Given the description of an element on the screen output the (x, y) to click on. 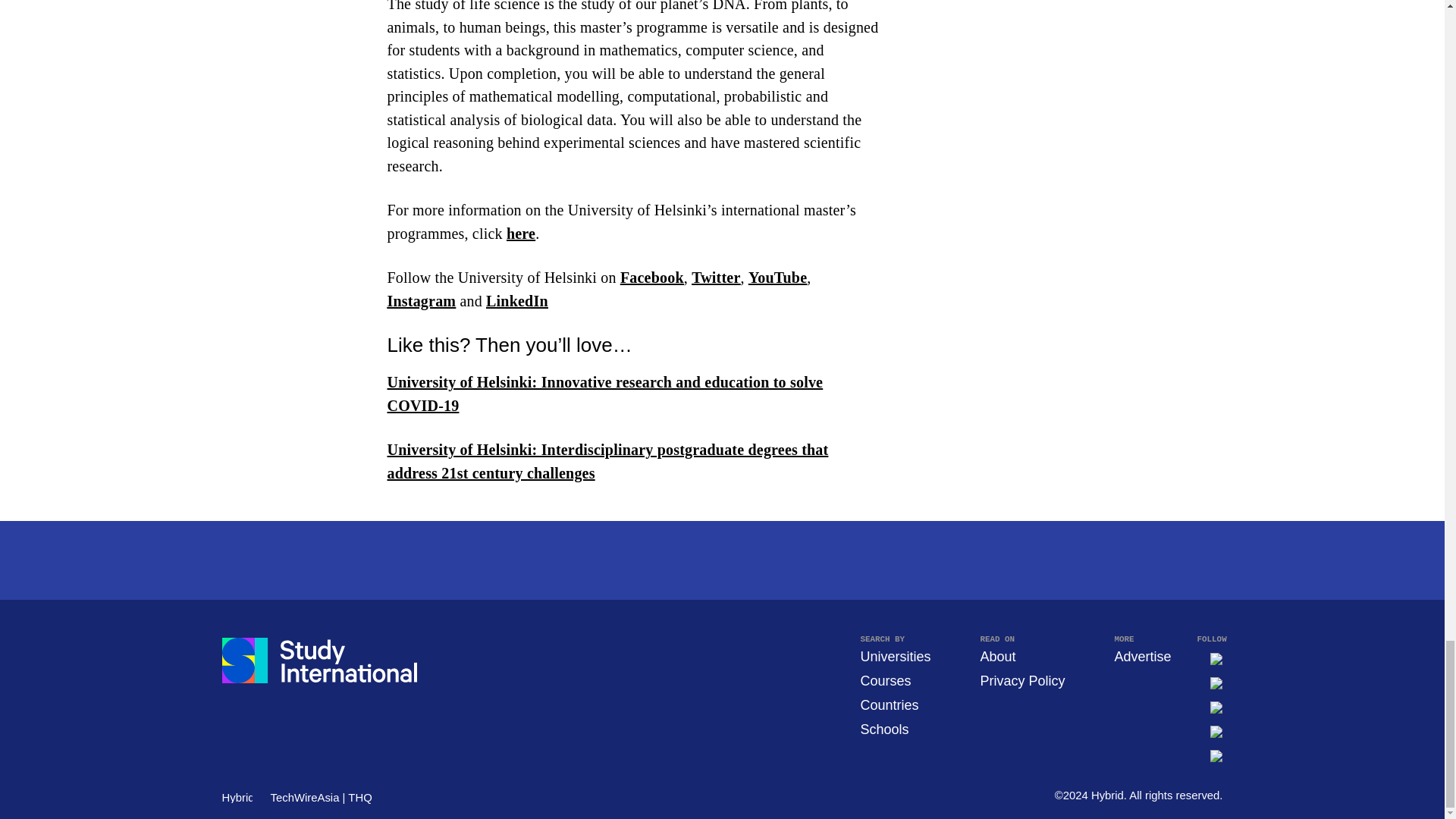
Twitter (715, 277)
Facebook (652, 277)
LinkedIn (517, 300)
here (520, 233)
YouTube (777, 277)
Instagram (421, 300)
